Given the description of an element on the screen output the (x, y) to click on. 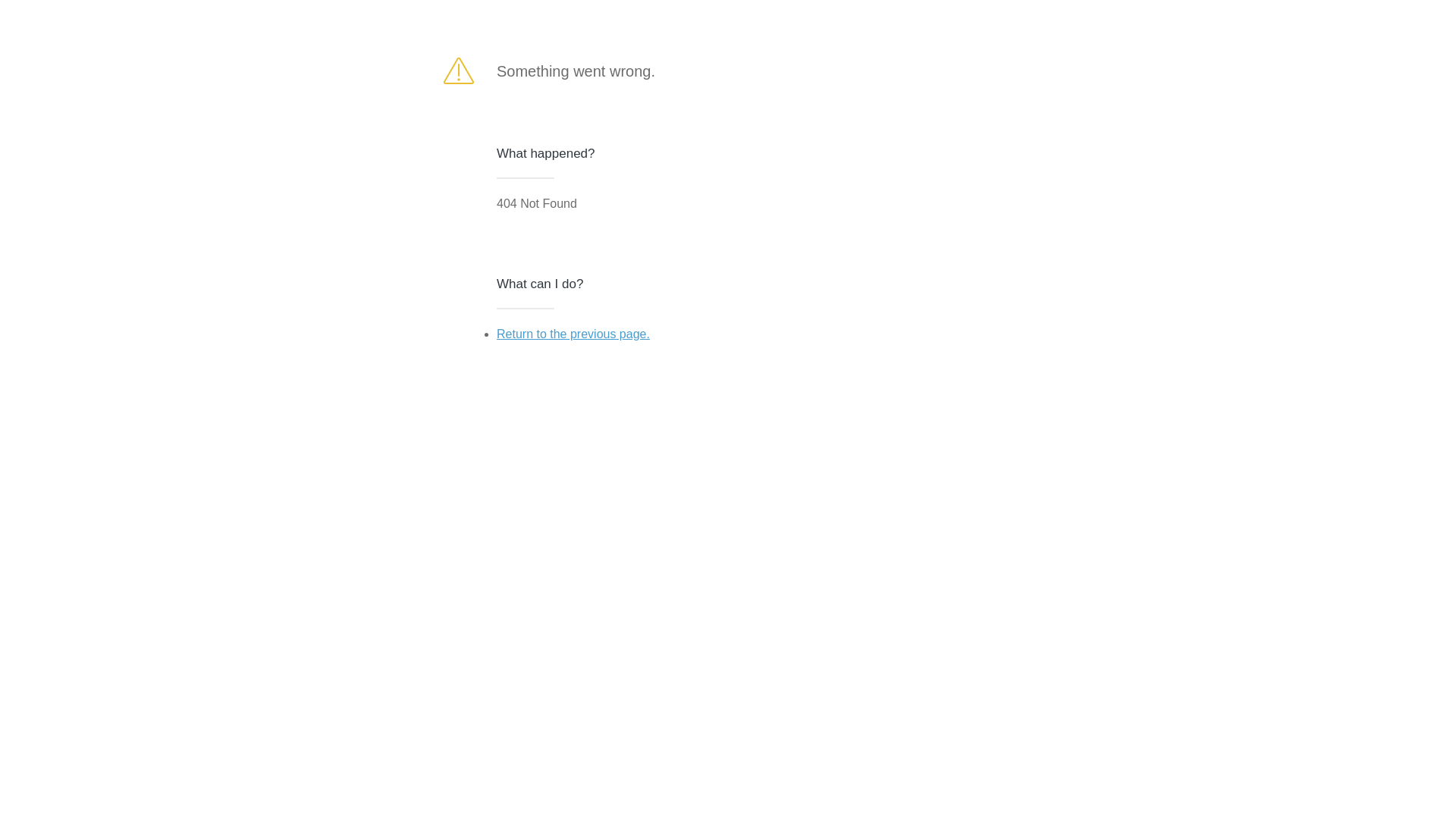
Return to the previous page. Element type: text (572, 333)
